Given the description of an element on the screen output the (x, y) to click on. 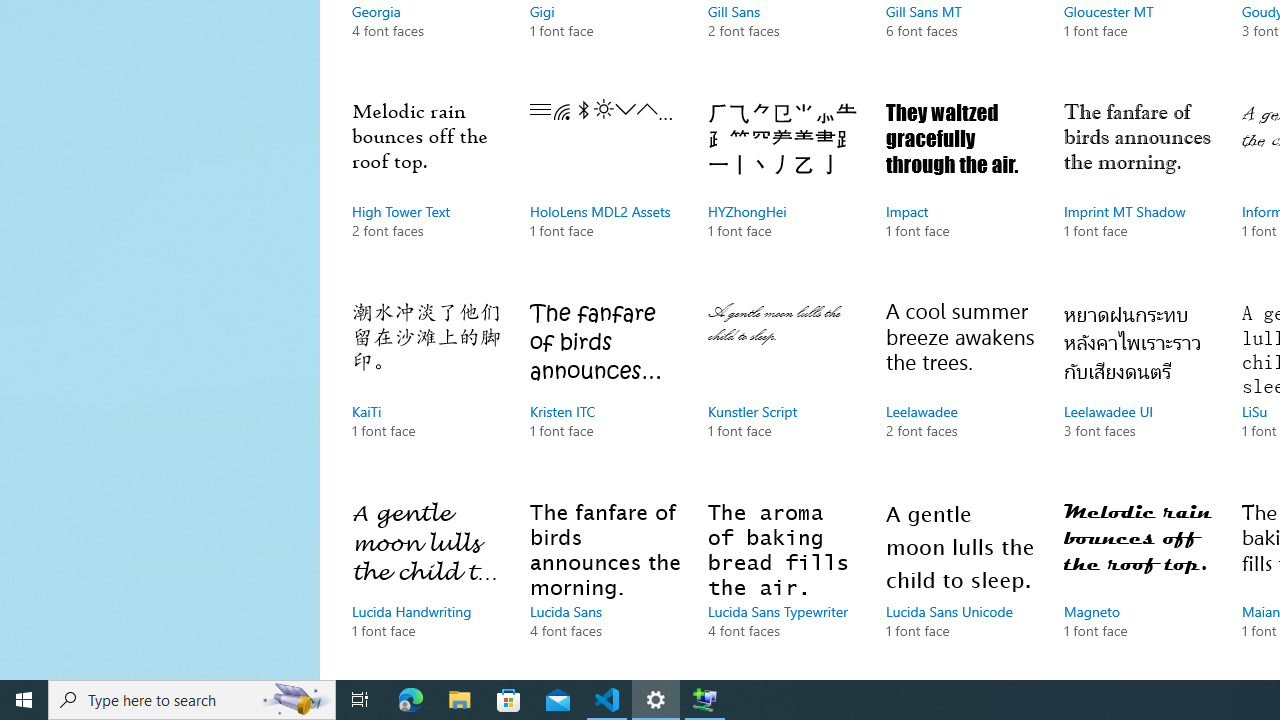
Lucida Sans Unicode, 1 font face (961, 584)
Type here to search (191, 699)
Task View (359, 699)
Kunstler Script, 1 font face (783, 390)
Search highlights icon opens search home window (295, 699)
High Tower Text, 2 font faces (426, 190)
Imprint MT Shadow, 1 font face (1138, 190)
Visual Studio Code - 1 running window (607, 699)
HoloLens MDL2 Assets, 1 font face (604, 190)
HYZhongHei, 1 font face (783, 190)
Microsoft Store (509, 699)
Microsoft Edge (411, 699)
Lucida Handwriting, 1 font face (426, 584)
Leelawadee, 2 font faces (961, 390)
